Given the description of an element on the screen output the (x, y) to click on. 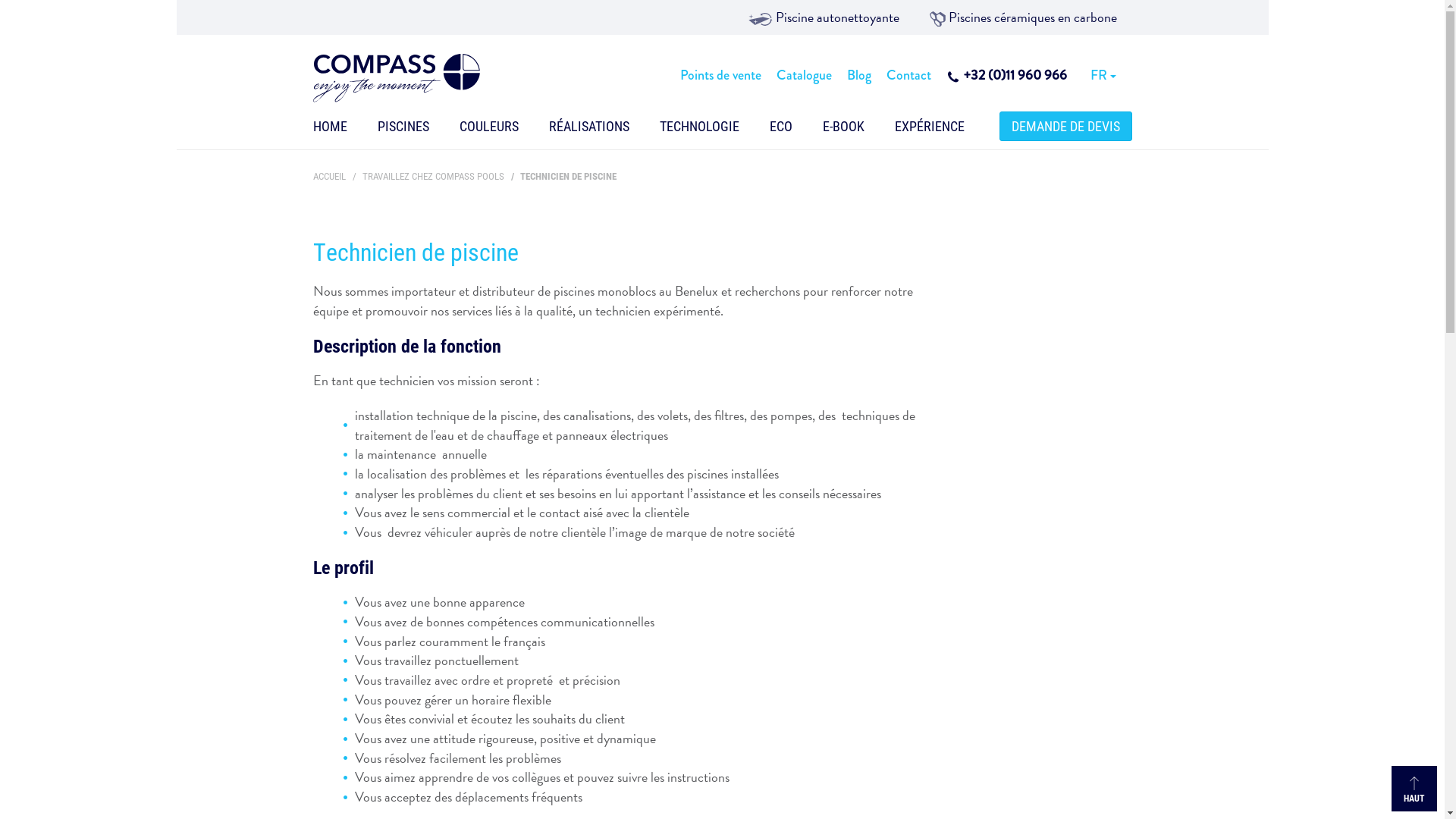
ECO Element type: text (779, 129)
Points de vente Element type: text (719, 75)
DEMANDE DE DEVIS Element type: text (1065, 126)
TRAVAILLEZ CHEZ COMPASS POOLS Element type: text (433, 175)
COULEURS Element type: text (488, 129)
PISCINES Element type: text (403, 129)
Blog Element type: text (858, 75)
FR Element type: text (1102, 75)
ACCUEIL Element type: text (328, 175)
Piscine autonettoyante Element type: text (822, 17)
HAUT Element type: text (1414, 788)
E-BOOK Element type: text (842, 129)
+32 (0)11 960 966 Element type: text (1006, 75)
Contact Element type: text (908, 75)
TECHNOLOGIE Element type: text (699, 129)
Catalogue Element type: text (803, 75)
HOME Element type: text (329, 129)
